Given the description of an element on the screen output the (x, y) to click on. 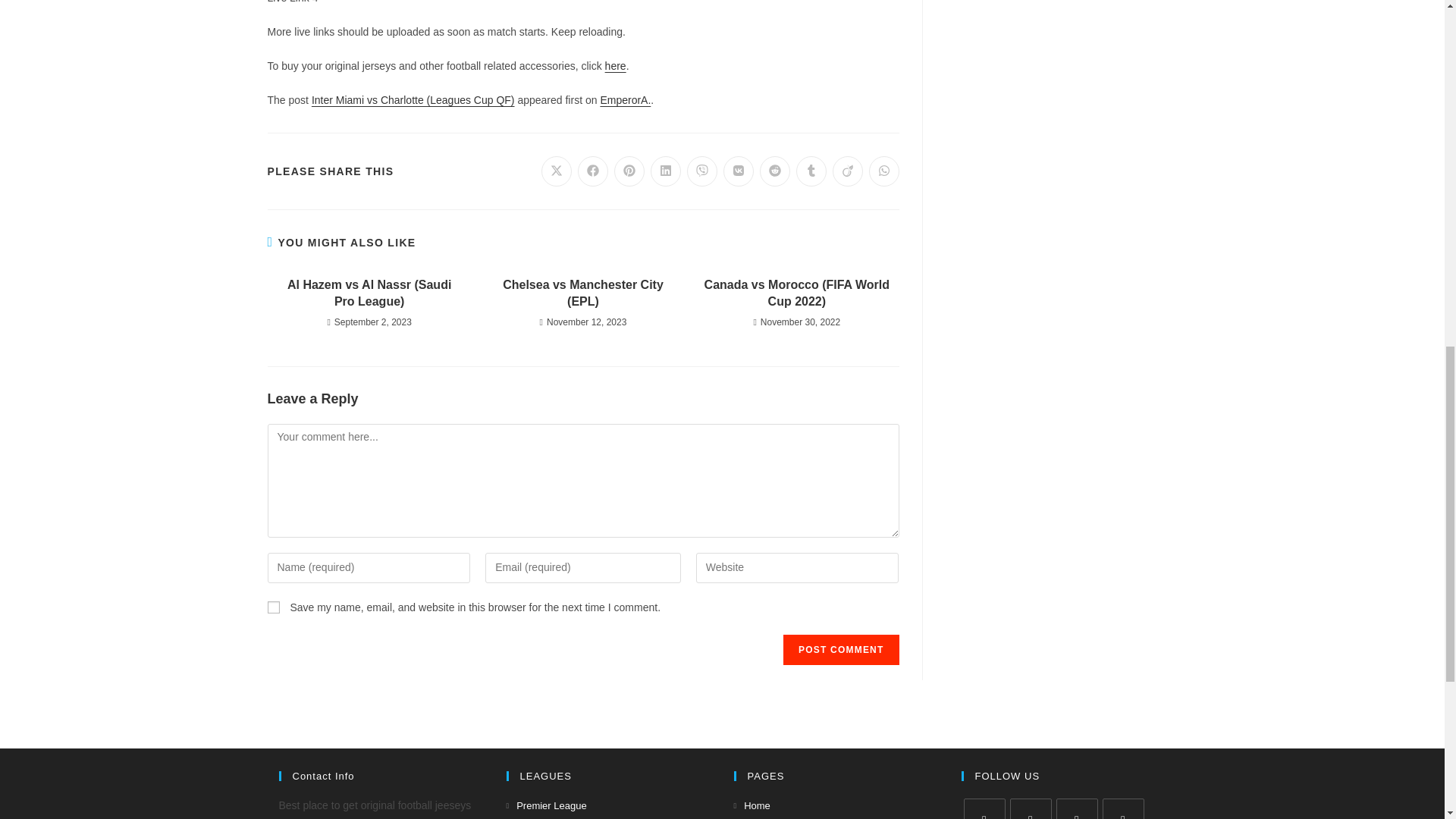
EmperorA. (624, 100)
yes (272, 607)
here (615, 65)
Post Comment (840, 649)
